Given the description of an element on the screen output the (x, y) to click on. 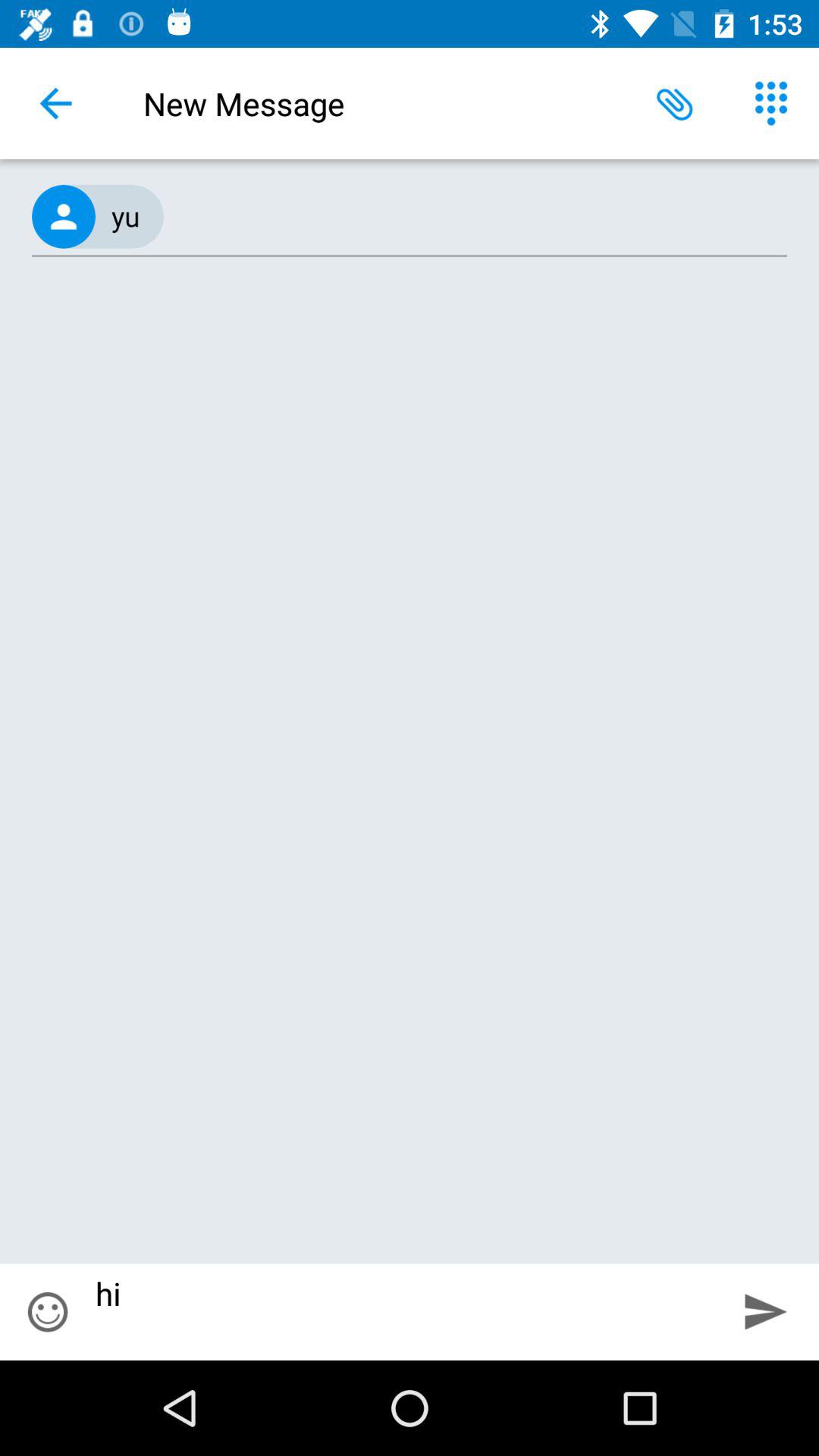
turn off icon at the center (409, 769)
